Given the description of an element on the screen output the (x, y) to click on. 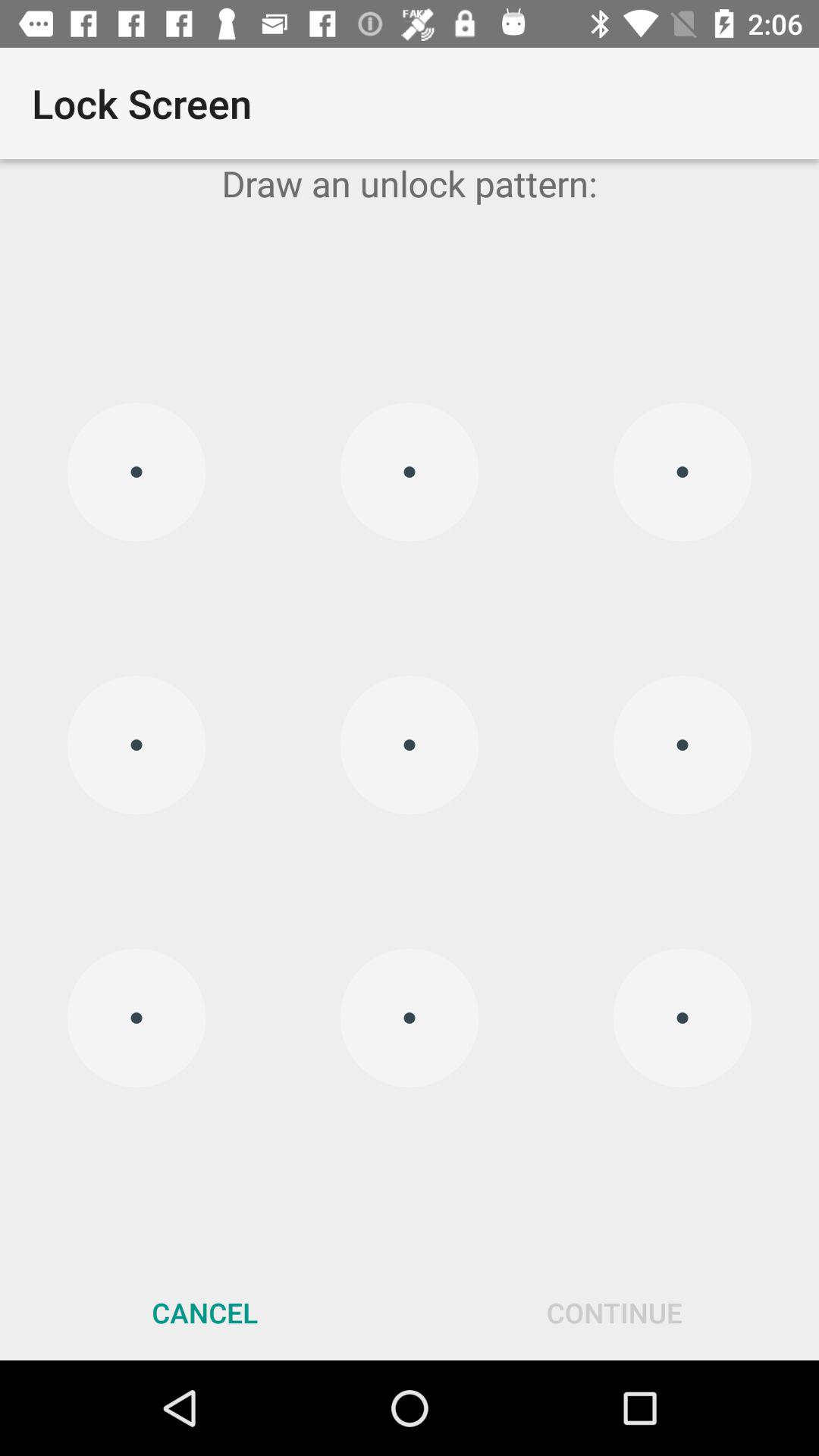
select cancel at the bottom left corner (204, 1312)
